Given the description of an element on the screen output the (x, y) to click on. 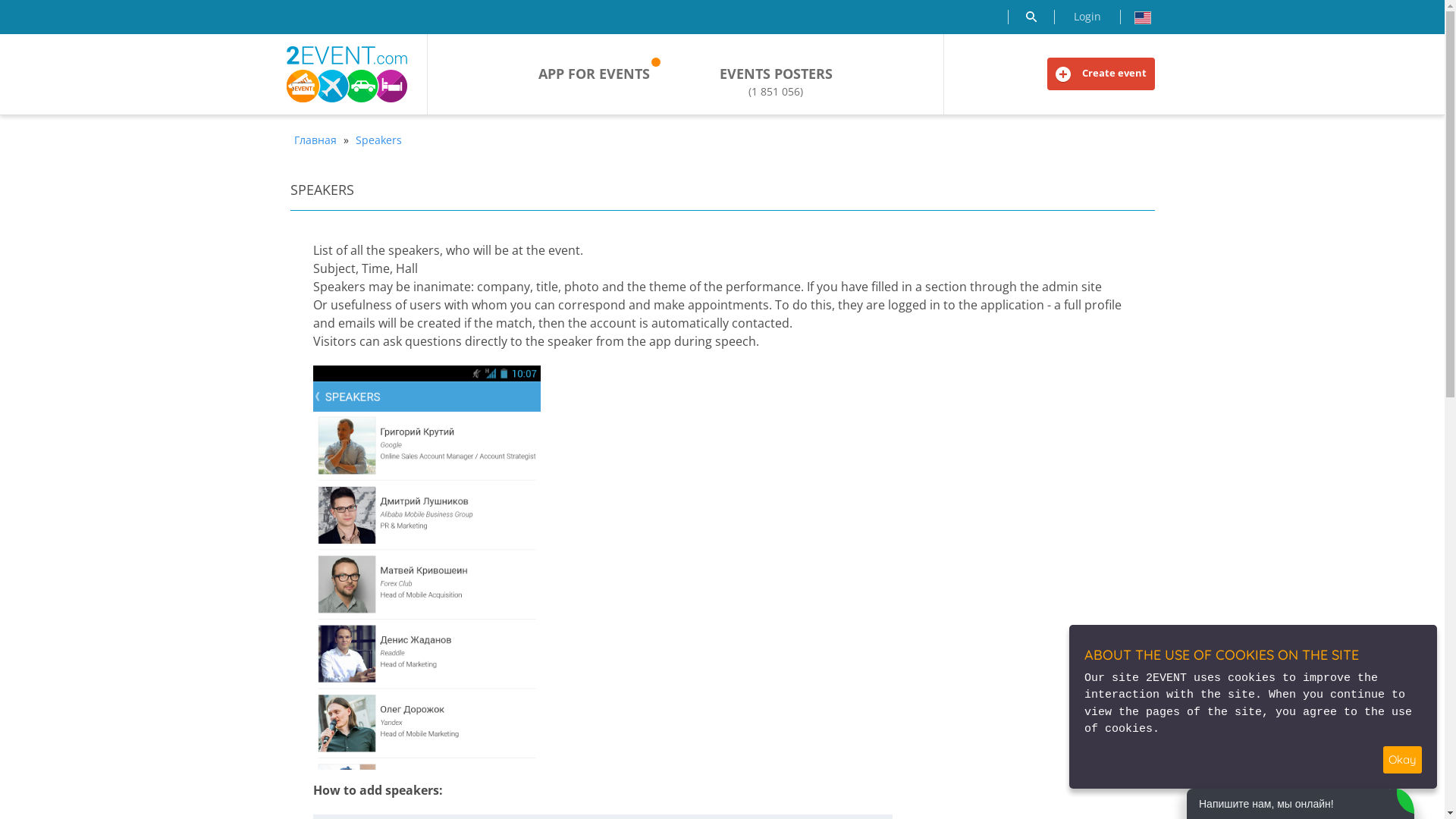
Login Element type: text (1087, 16)
APP FOR EVENTS Element type: text (593, 73)
Speakers Element type: text (378, 139)
Create event Element type: text (1100, 73)
Search Element type: hover (1030, 16)
Okay Element type: text (1402, 760)
EVENTS POSTERS
(1 851 056) Element type: text (776, 81)
